Given the description of an element on the screen output the (x, y) to click on. 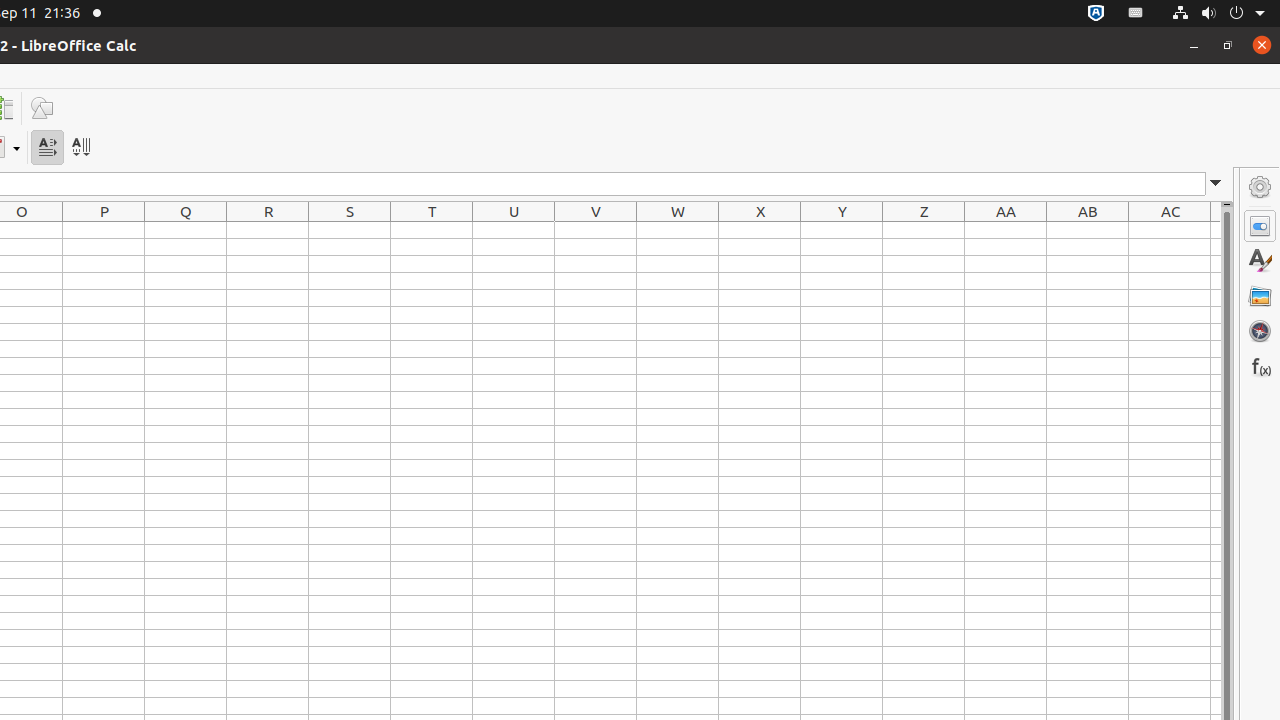
Text direction from left to right Element type: toggle-button (47, 147)
R1 Element type: table-cell (268, 230)
U1 Element type: table-cell (514, 230)
AB1 Element type: table-cell (1088, 230)
P1 Element type: table-cell (104, 230)
